Given the description of an element on the screen output the (x, y) to click on. 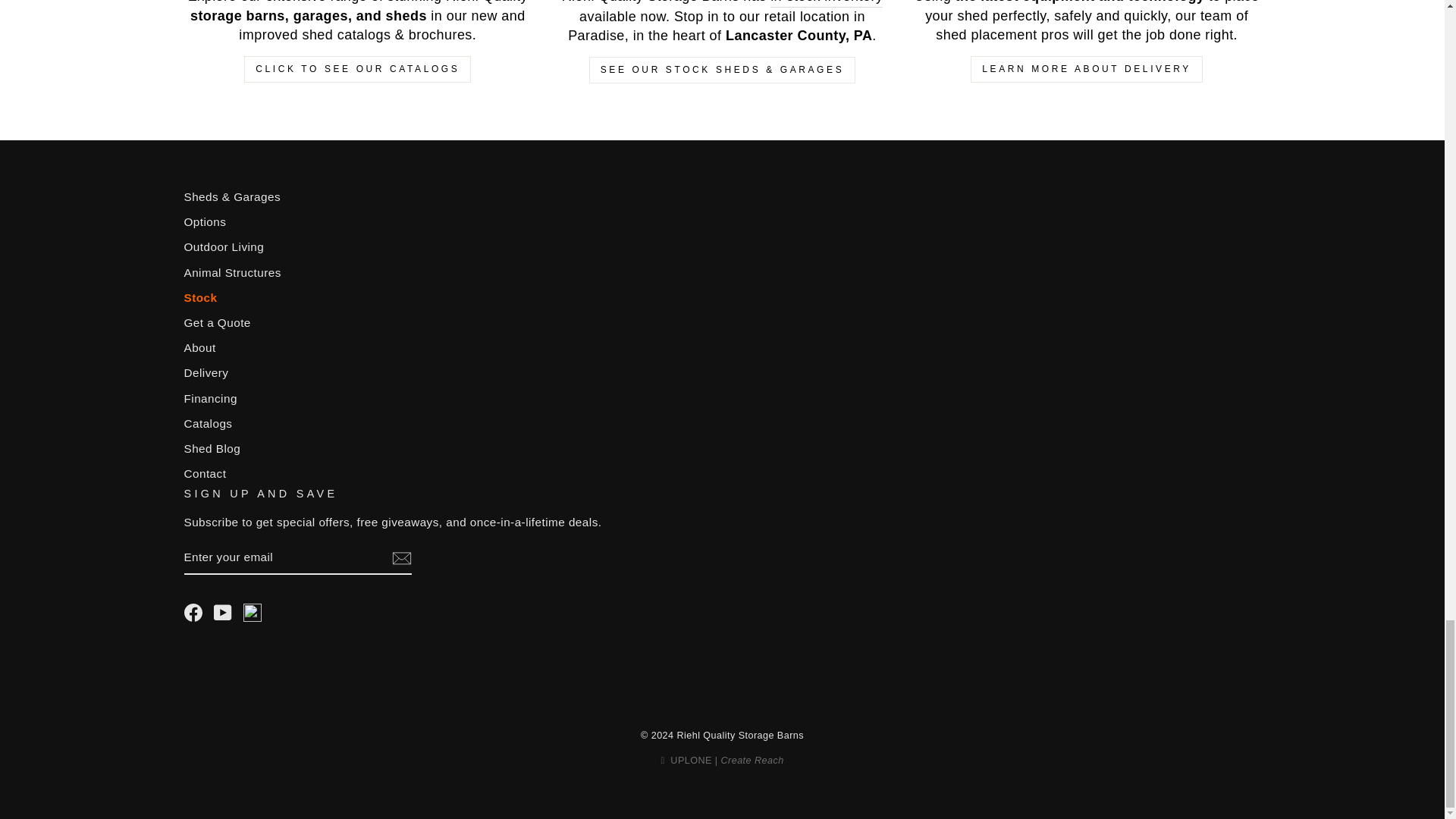
Riehl Quality Storage Barns on Houzz (251, 606)
Riehl Quality Storage Barns on YouTube (222, 612)
Riehl Quality Storage Barns on Facebook (192, 612)
icon-email (400, 558)
